Given the description of an element on the screen output the (x, y) to click on. 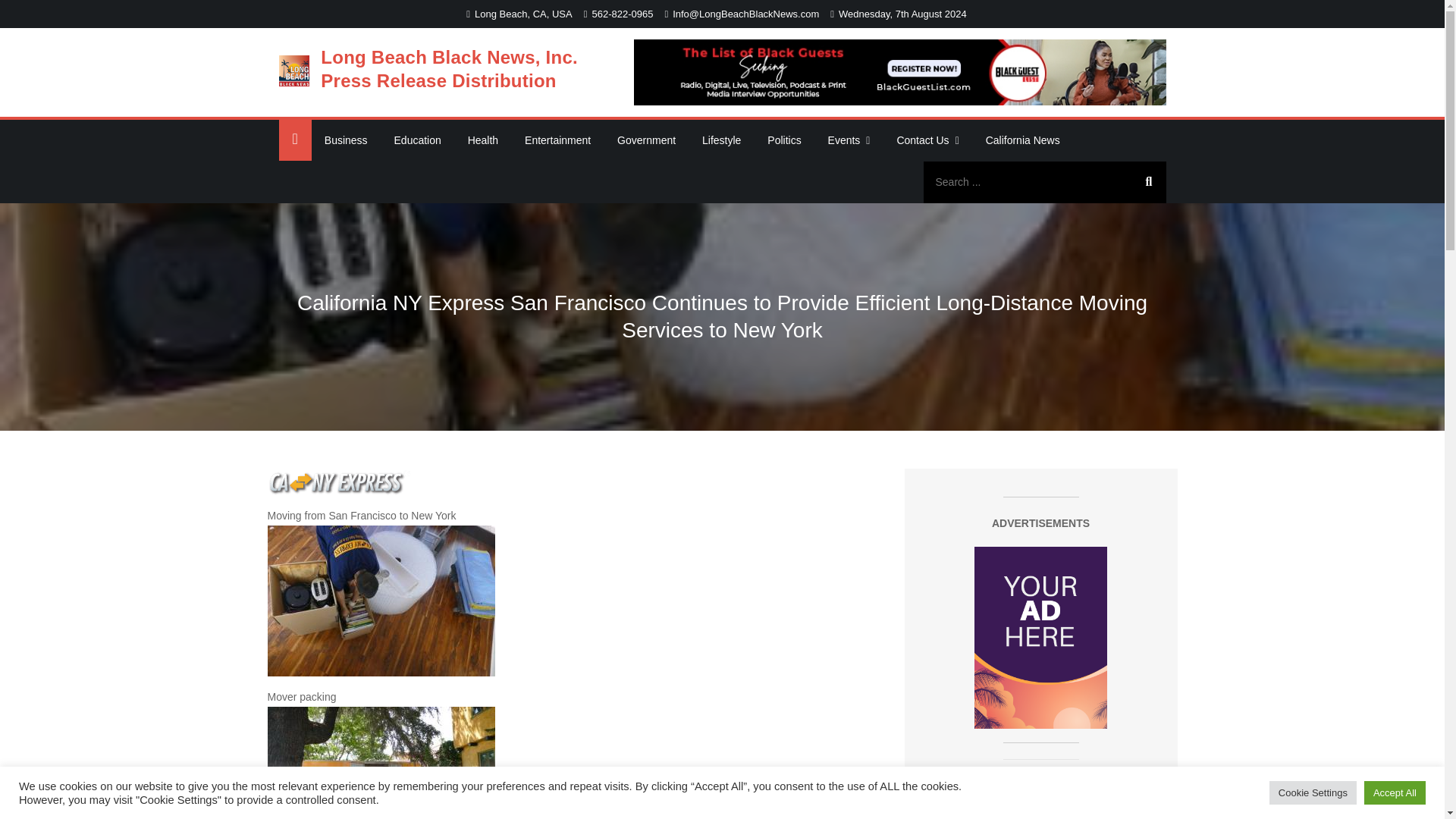
Contact Us (927, 140)
Health (482, 139)
Business (346, 139)
Lifestyle (721, 139)
Events (848, 140)
California News (1022, 139)
Search for: (1044, 182)
Long Beach Black News, Inc. Press Release Distribution (449, 68)
562-822-0965 (618, 13)
Entertainment (557, 139)
Politics (783, 139)
Government (646, 139)
Education (417, 139)
